Given the description of an element on the screen output the (x, y) to click on. 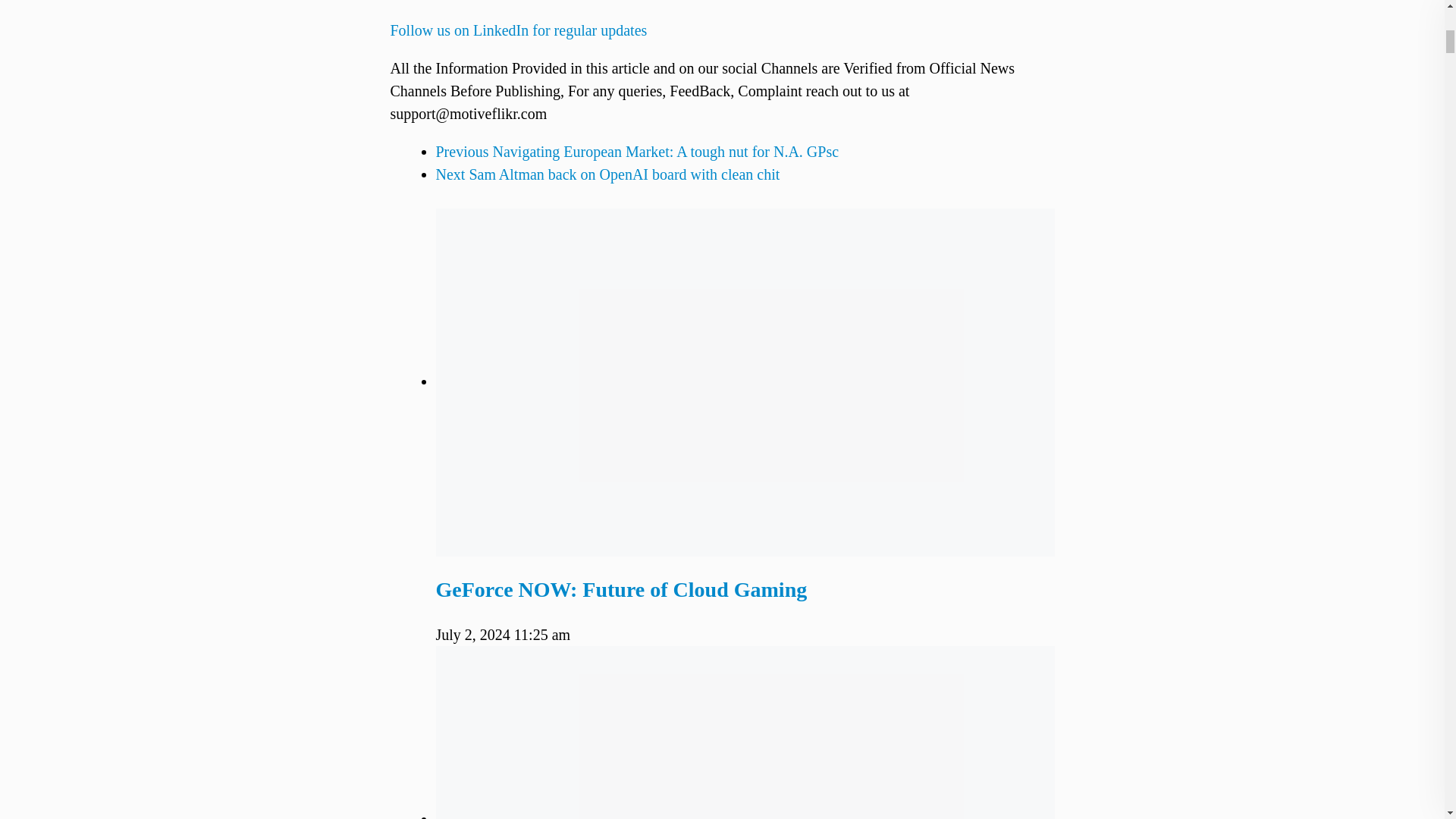
GeForce NOW: Future of Cloud Gaming (620, 589)
NVIDIA GeForce: The Ultimate Gaming Laptops (744, 732)
Next Sam Altman back on OpenAI board with clean chit (606, 174)
GeForce NOW: Future of Cloud Gaming (620, 589)
Follow us on LinkedIn for regular updates (518, 41)
